Given the description of an element on the screen output the (x, y) to click on. 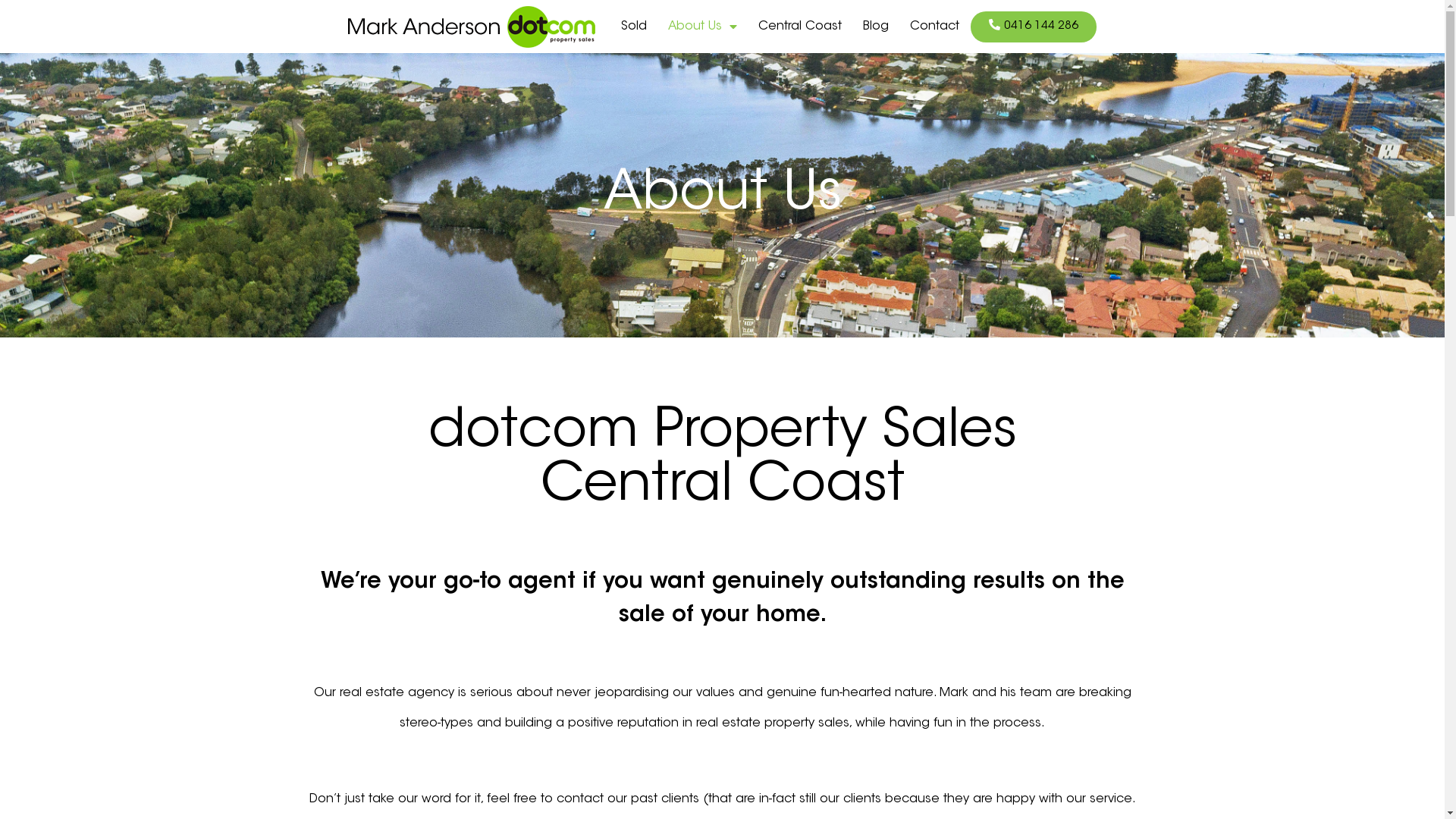
Sold Element type: text (633, 26)
About Us Element type: text (702, 26)
Central Coast Element type: text (800, 26)
0416 144 286 Element type: text (1033, 25)
Blog Element type: text (875, 26)
Contact Element type: text (934, 26)
